Given the description of an element on the screen output the (x, y) to click on. 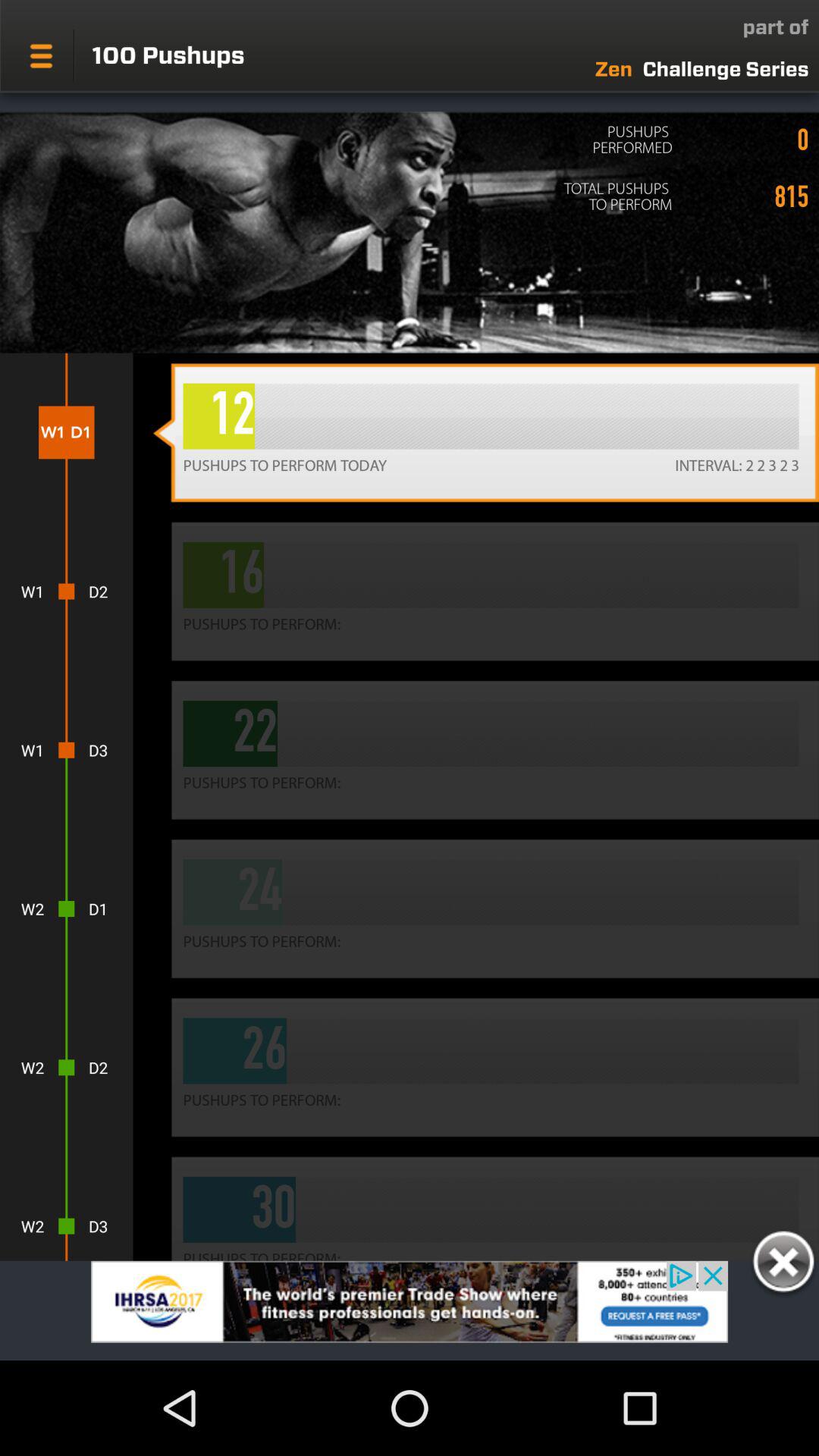
close the advertisement (783, 1264)
